Given the description of an element on the screen output the (x, y) to click on. 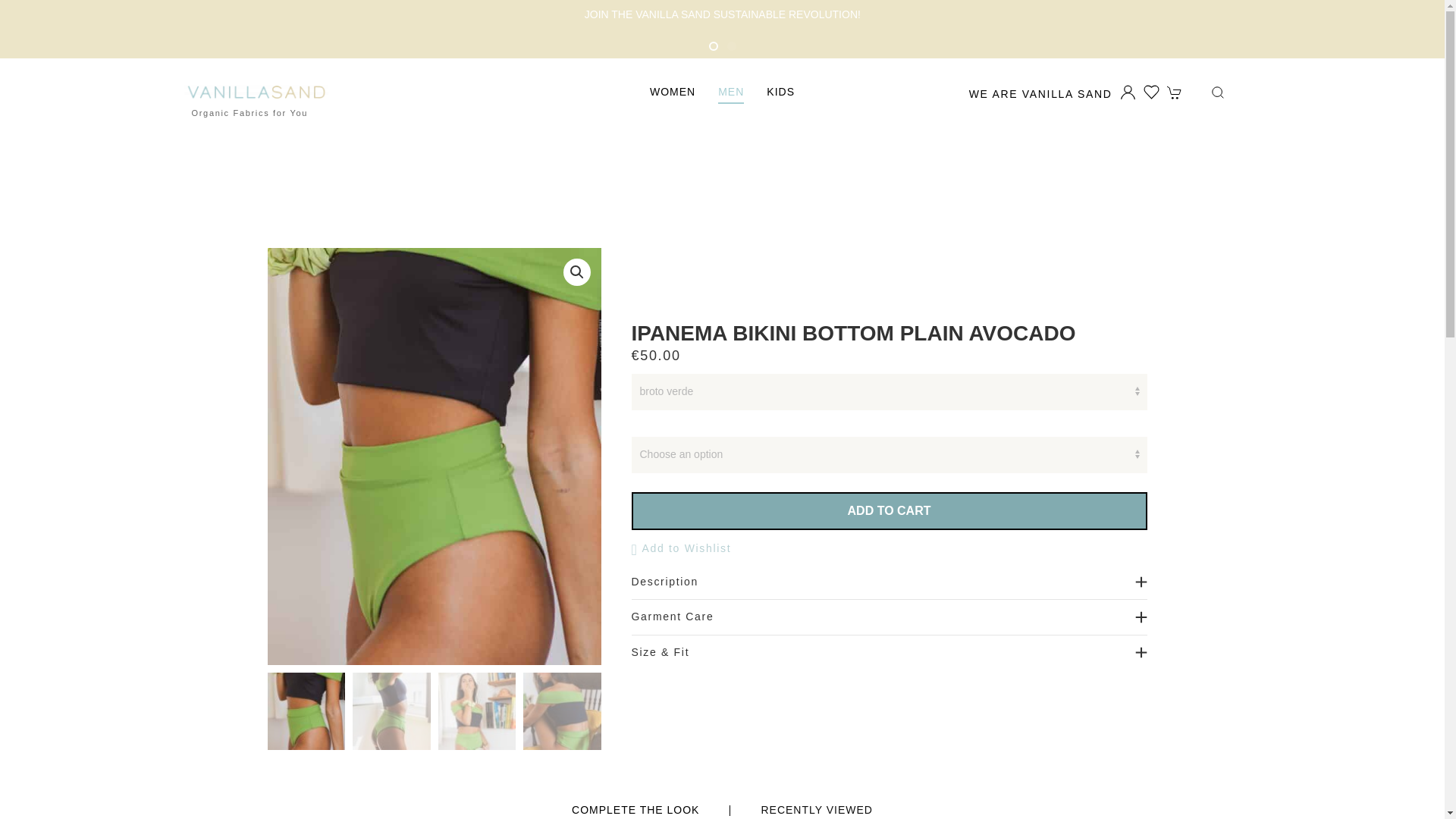
MEN (730, 92)
Organic Fabrics for You (258, 92)
WOMEN (672, 92)
JOIN THE VANILLA SAND SUSTAINABLE REVOLUTION! (721, 14)
